Given the description of an element on the screen output the (x, y) to click on. 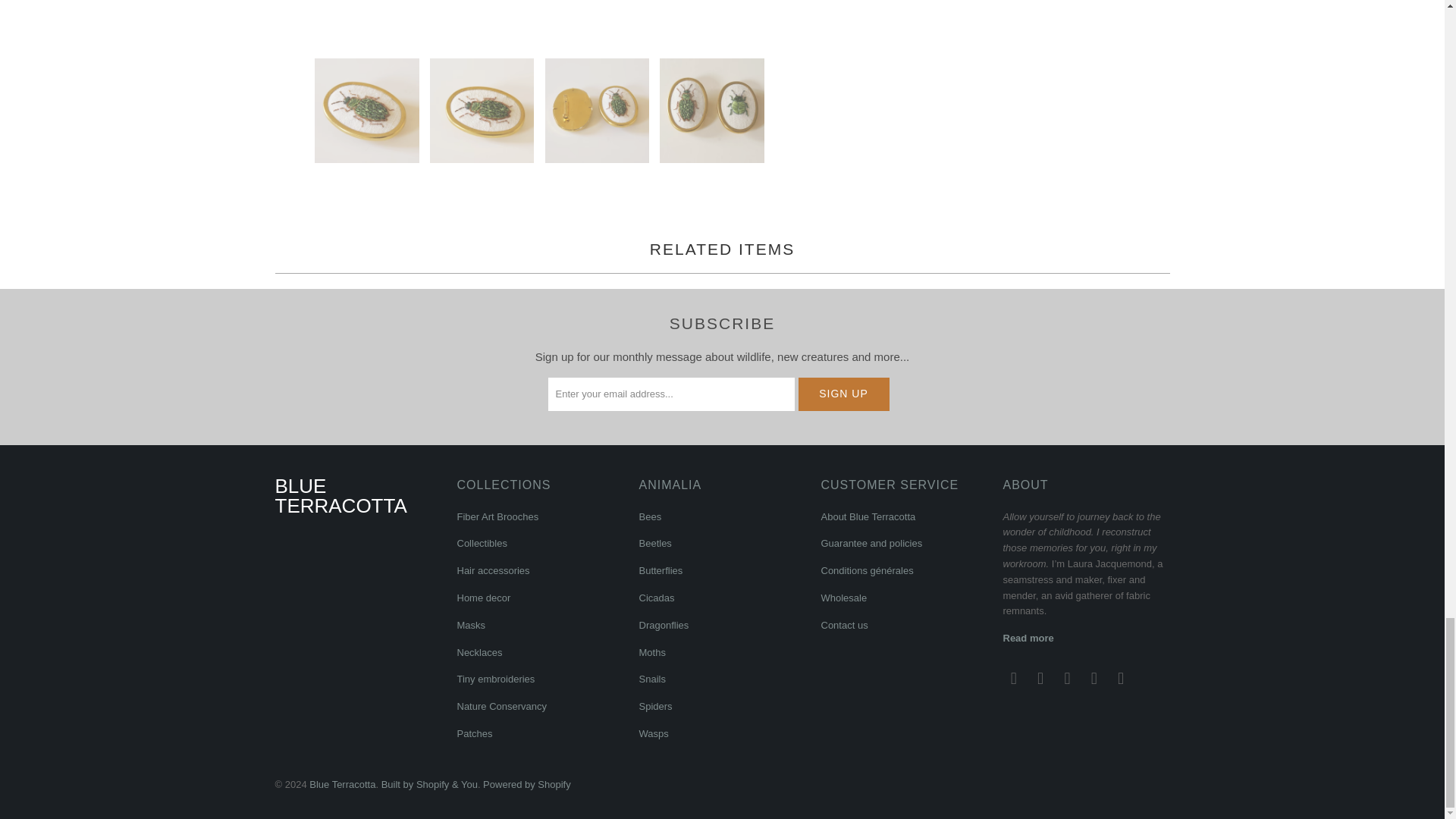
Sign Up (842, 394)
